Given the description of an element on the screen output the (x, y) to click on. 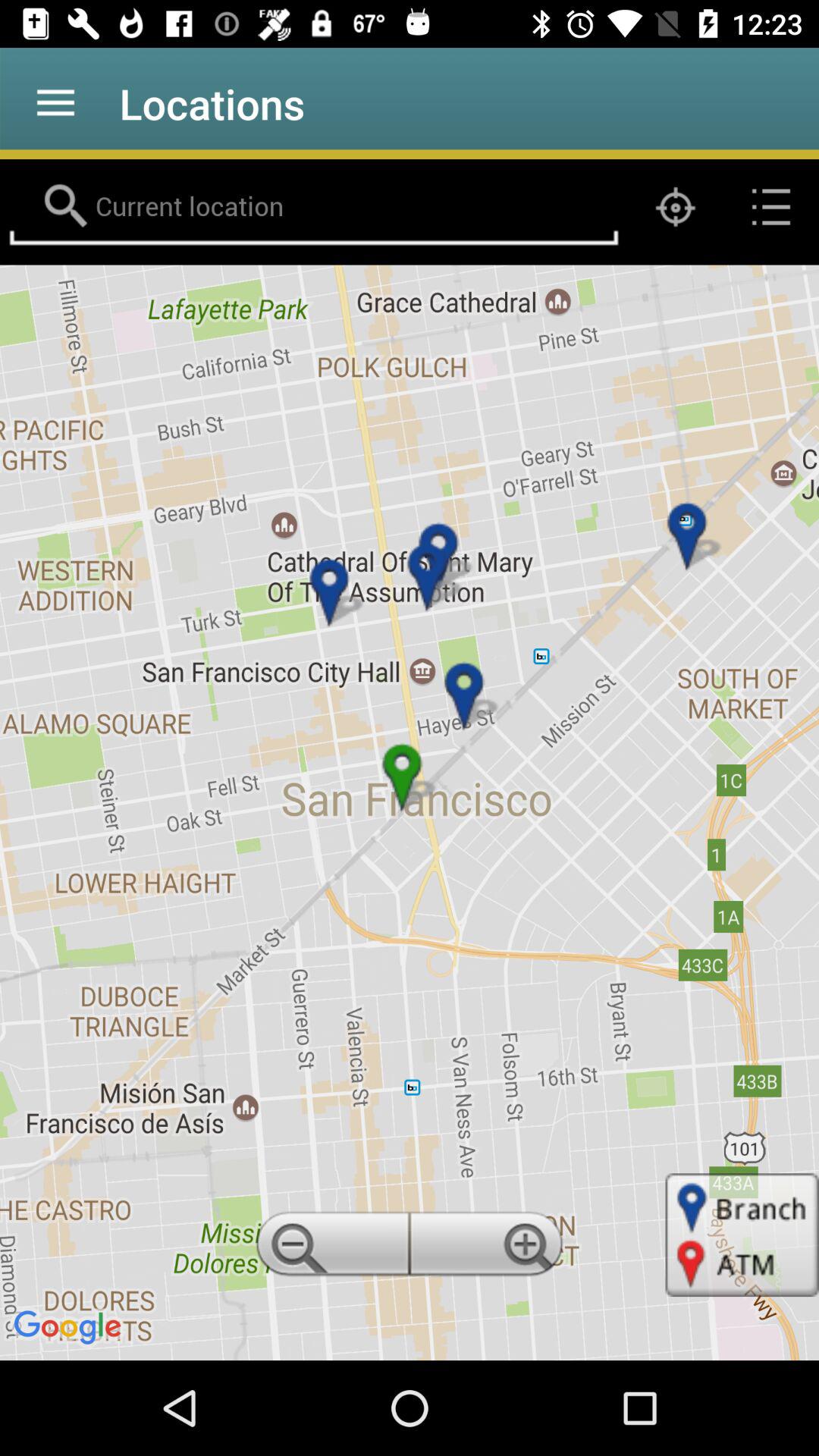
tap the item to the left of locations icon (55, 103)
